Given the description of an element on the screen output the (x, y) to click on. 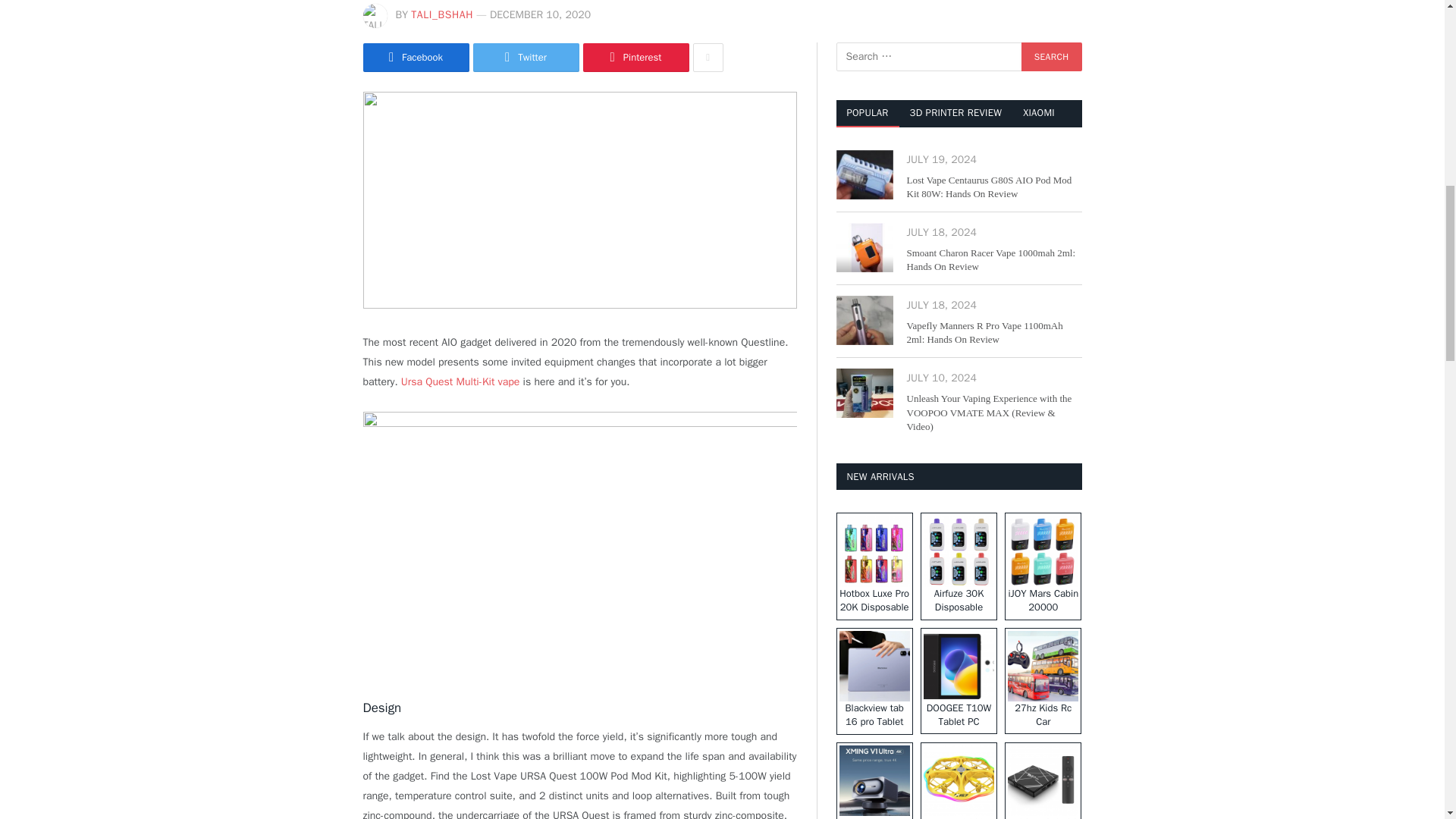
Share on Twitter (526, 57)
Share on Facebook (415, 57)
Search (1051, 56)
Show More Social Sharing (708, 57)
Search (1051, 56)
Share on Pinterest (635, 57)
